Given the description of an element on the screen output the (x, y) to click on. 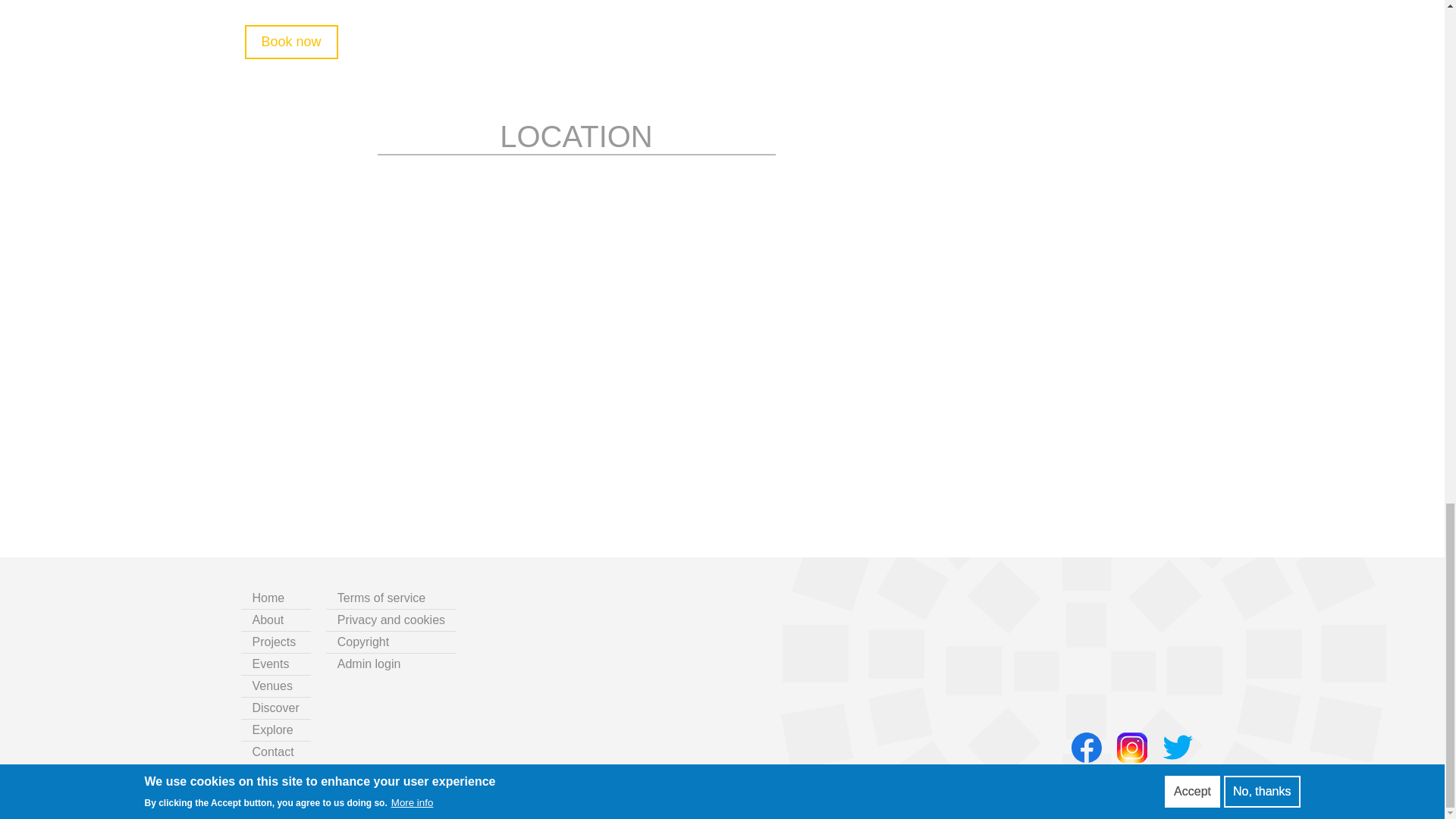
Explore (276, 730)
Contact (283, 752)
Book now (290, 41)
About (276, 619)
Venues (276, 685)
Home (276, 598)
Admin login (398, 663)
Discover (276, 708)
Projects (276, 641)
Events (276, 663)
